Given the description of an element on the screen output the (x, y) to click on. 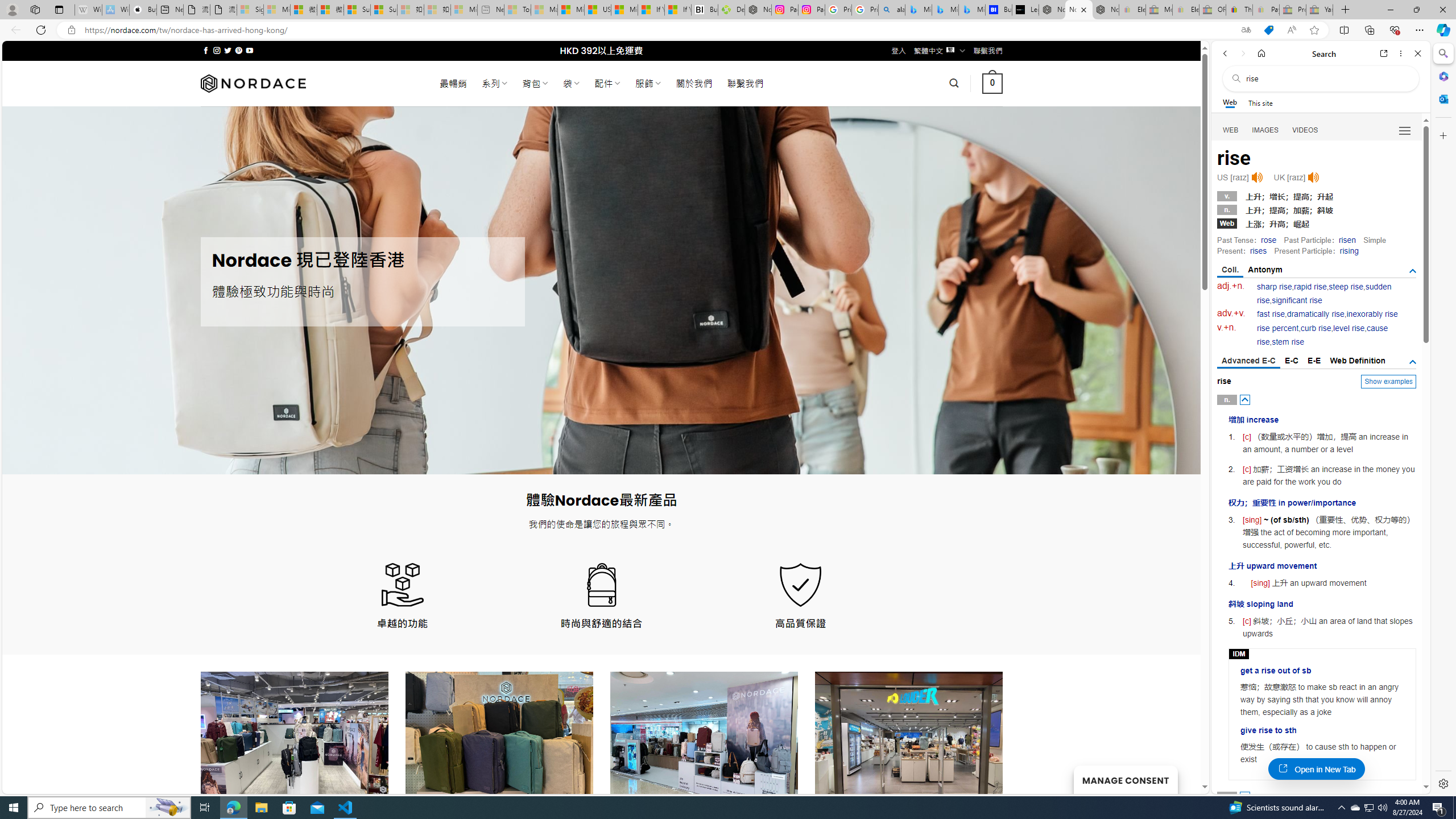
curb rise (1315, 328)
sharp rise (1274, 286)
E-E (1314, 360)
Search Filter, WEB (1231, 129)
AutomationID: tgsb (1412, 270)
